Given the description of an element on the screen output the (x, y) to click on. 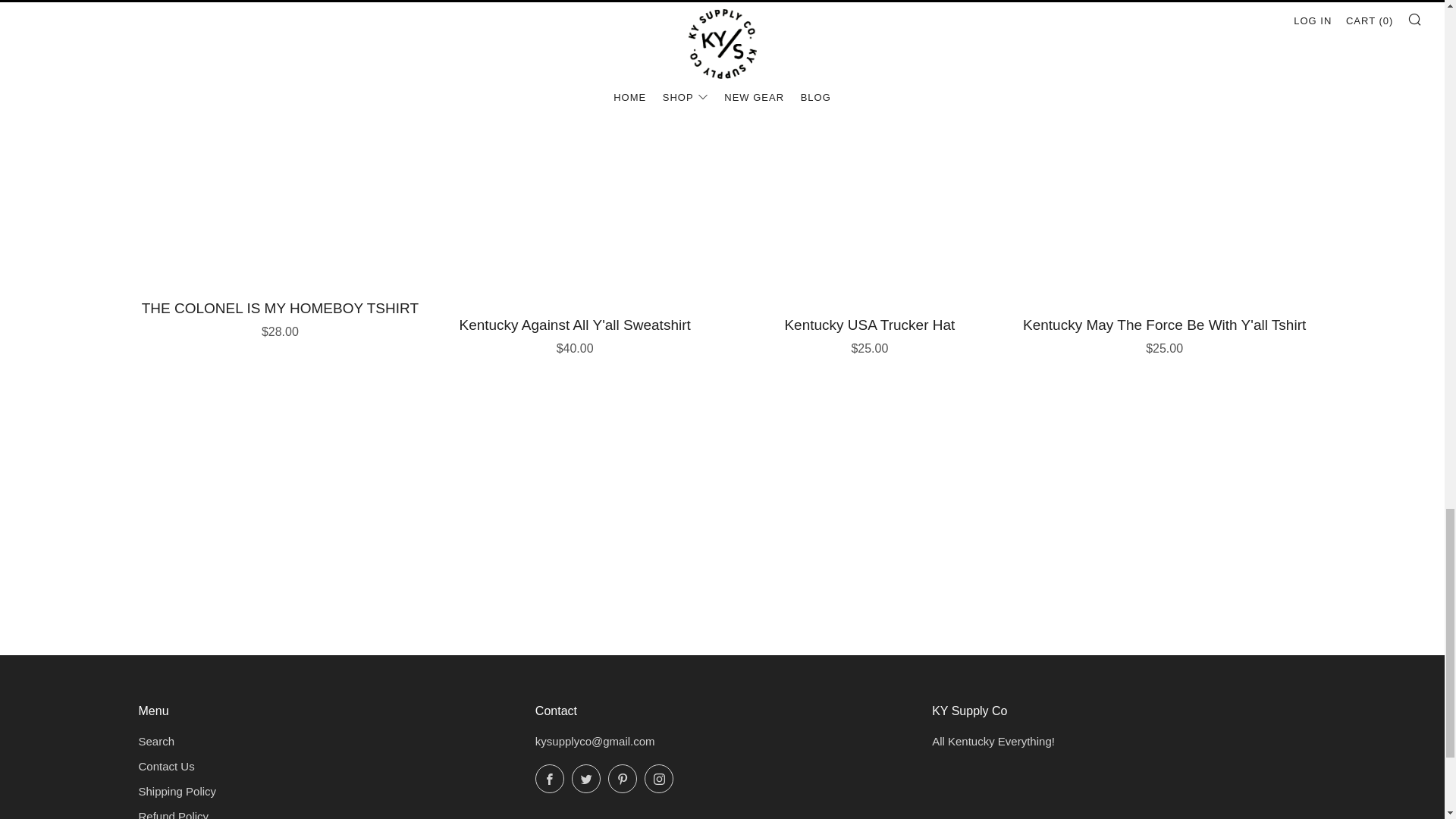
Kentucky May The Force Be With Y'all Tshirt (1164, 333)
Kentucky USA Trucker Hat (869, 333)
Kentucky Against All Y'all Sweatshirt (574, 333)
THE COLONEL IS MY HOMEBOY TSHIRT (280, 316)
